Given the description of an element on the screen output the (x, y) to click on. 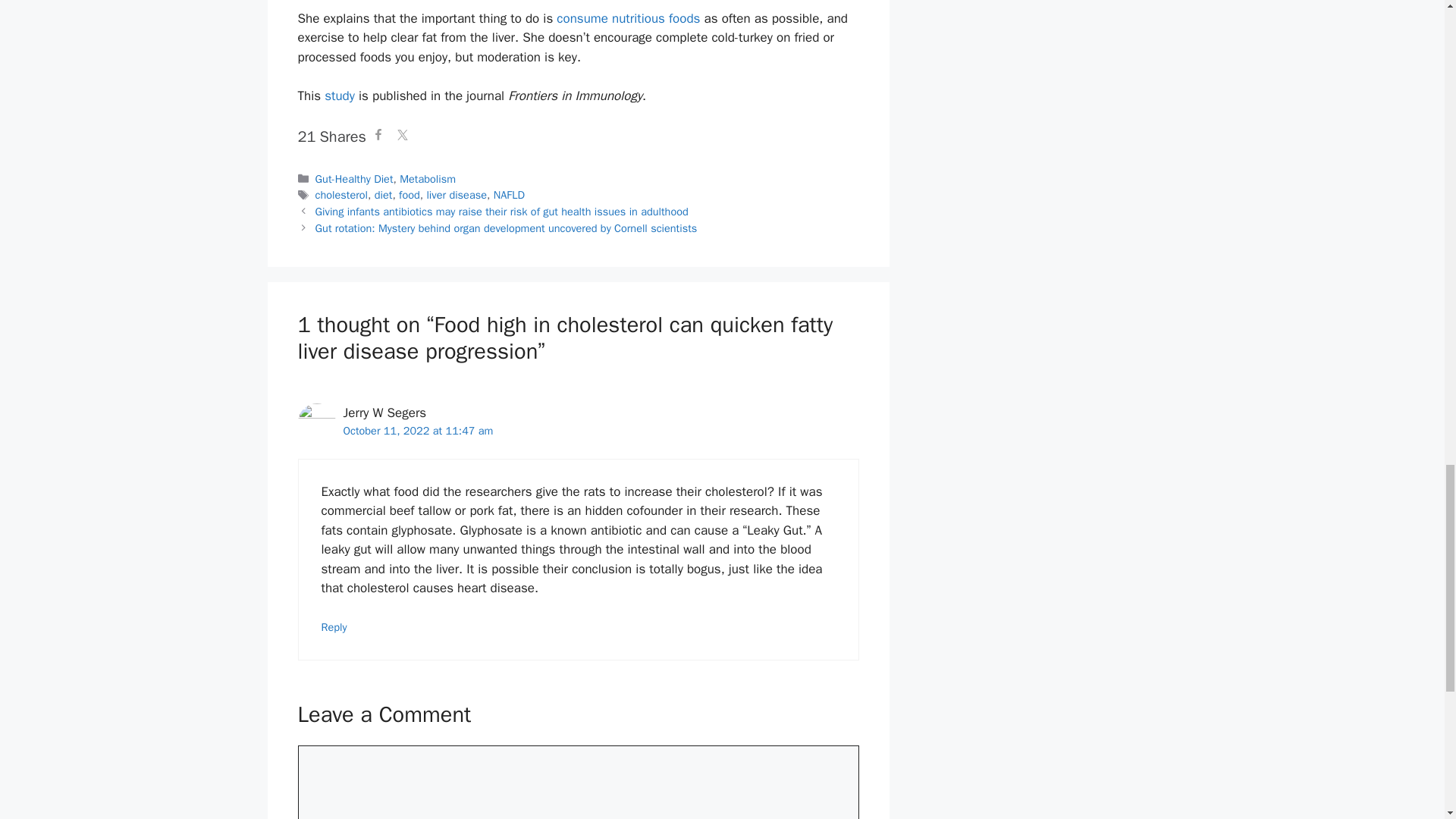
Gut-Healthy Diet (354, 178)
Reply (334, 626)
cholesterol (341, 194)
liver disease (456, 194)
Metabolism (426, 178)
NAFLD (508, 194)
food (409, 194)
study (339, 95)
consume nutritious foods (628, 18)
